Given the description of an element on the screen output the (x, y) to click on. 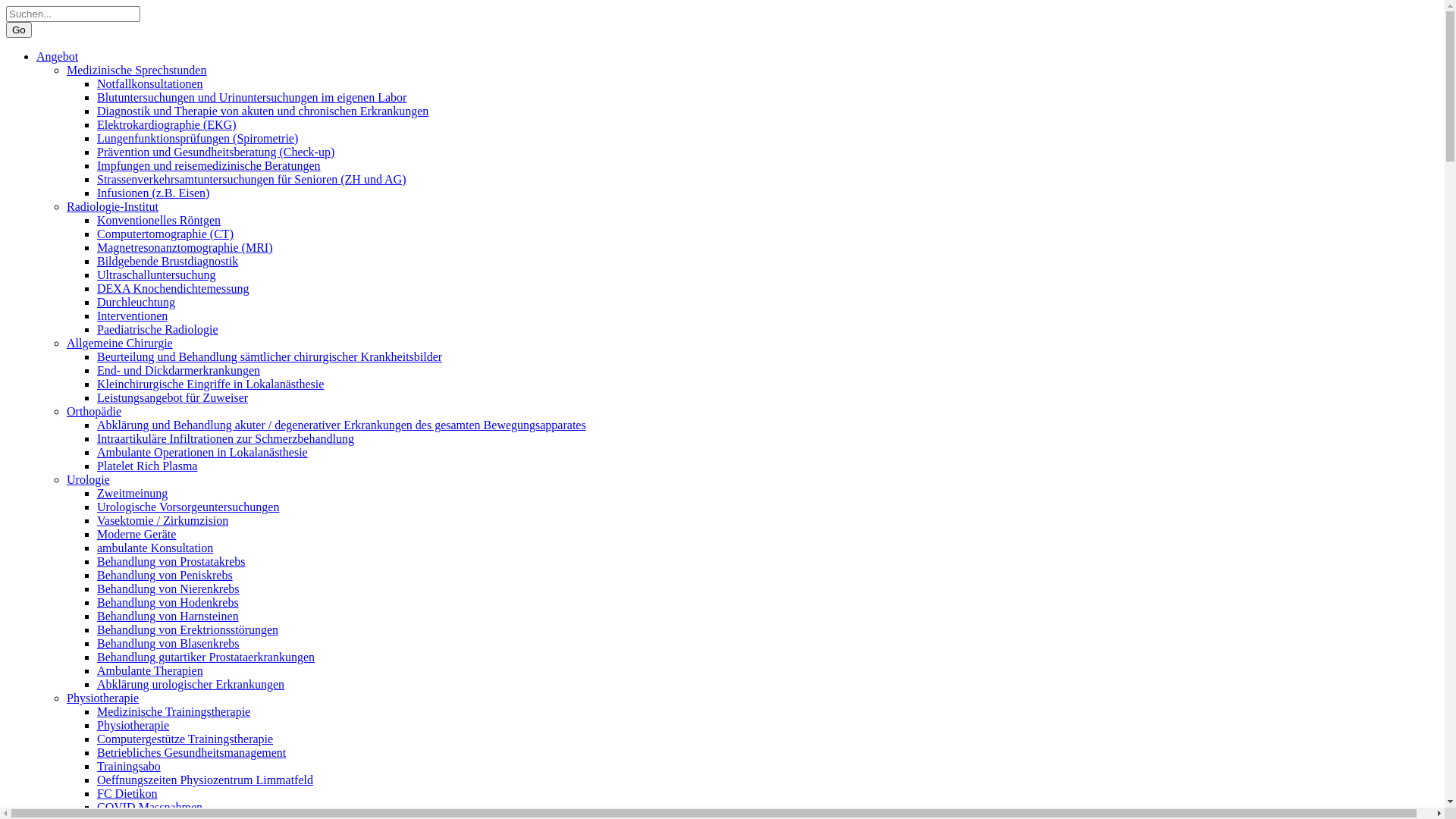
Behandlung gutartiker Prostataerkrankungen Element type: text (205, 656)
Urologie Element type: text (87, 479)
Zweitmeinung Element type: text (132, 492)
Behandlung von Hodenkrebs Element type: text (167, 602)
Trainingsabo Element type: text (128, 765)
Elektrokardiographie (EKG) Element type: text (166, 124)
Behandlung von Blasenkrebs Element type: text (168, 643)
Urologische Vorsorgeuntersuchungen Element type: text (188, 506)
Go Element type: text (18, 29)
End- und Dickdarmerkrankungen Element type: text (178, 370)
Bildgebende Brustdiagnostik Element type: text (167, 260)
Vasektomie / Zirkumzision Element type: text (162, 520)
Platelet Rich Plasma Element type: text (147, 465)
Durchleuchtung Element type: text (136, 301)
Interventionen Element type: text (132, 315)
Ultraschalluntersuchung Element type: text (156, 274)
Angebot Element type: text (57, 56)
Paediatrische Radiologie Element type: text (157, 329)
ambulante Konsultation Element type: text (155, 547)
DEXA Knochendichtemessung Element type: text (172, 288)
Behandlung von Prostatakrebs Element type: text (171, 561)
Blutuntersuchungen und Urinuntersuchungen im eigenen Labor Element type: text (251, 97)
Betriebliches Gesundheitsmanagement Element type: text (191, 752)
Medizinische Sprechstunden Element type: text (136, 69)
Computertomographie (CT) Element type: text (165, 233)
Allgemeine Chirurgie Element type: text (119, 342)
Impfungen und reisemedizinische Beratungen Element type: text (208, 165)
Notfallkonsultationen Element type: text (150, 83)
FC Dietikon Element type: text (127, 793)
Behandlung von Peniskrebs Element type: text (164, 574)
Physiotherapie Element type: text (102, 697)
Behandlung von Nierenkrebs Element type: text (168, 588)
COVID Massnahmen Element type: text (149, 806)
Ambulante Therapien Element type: text (150, 670)
Oeffnungszeiten Physiozentrum Limmatfeld Element type: text (205, 779)
Radiologie-Institut Element type: text (112, 206)
Medizinische Trainingstherapie Element type: text (173, 711)
Magnetresonanztomographie (MRI) Element type: text (184, 247)
Physiotherapie Element type: text (133, 724)
Behandlung von Harnsteinen Element type: text (167, 615)
Infusionen (z.B. Eisen) Element type: text (153, 192)
